Given the description of an element on the screen output the (x, y) to click on. 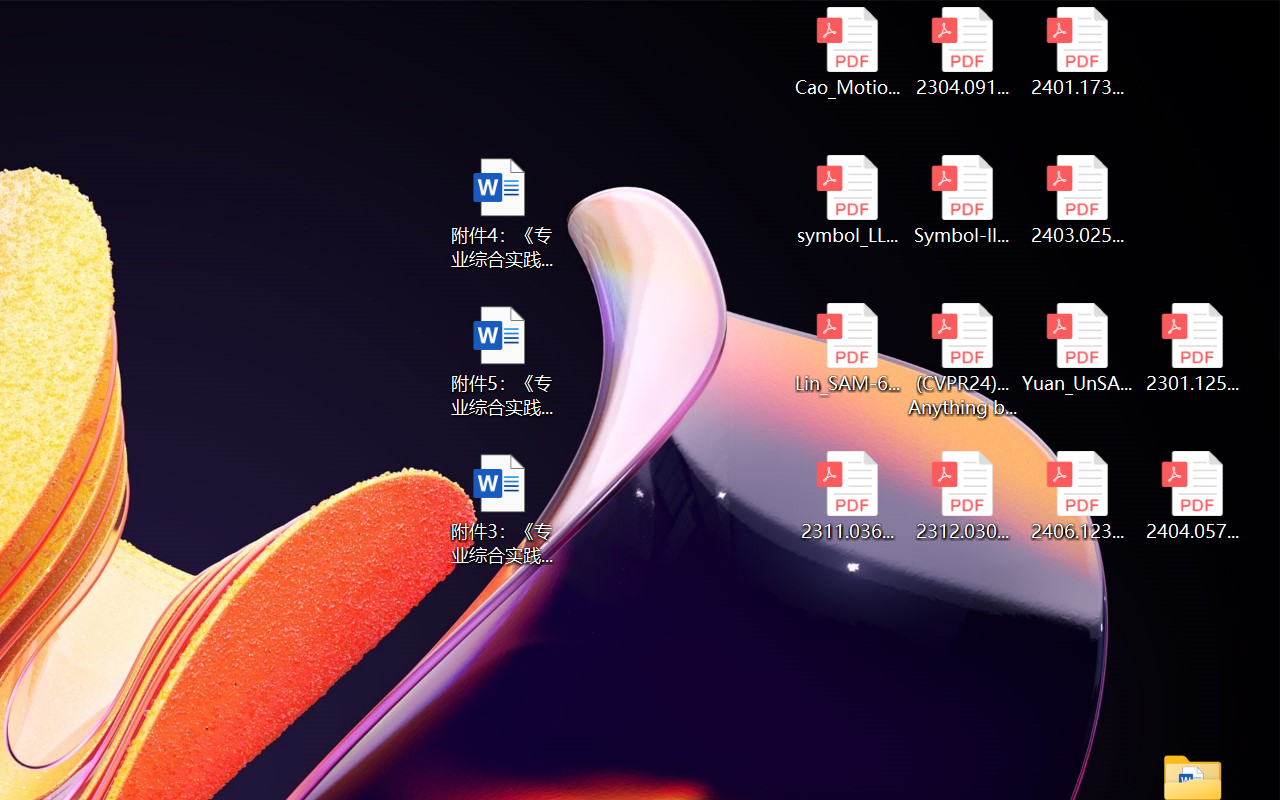
Symbol-llm-v2.pdf (962, 200)
